Given the description of an element on the screen output the (x, y) to click on. 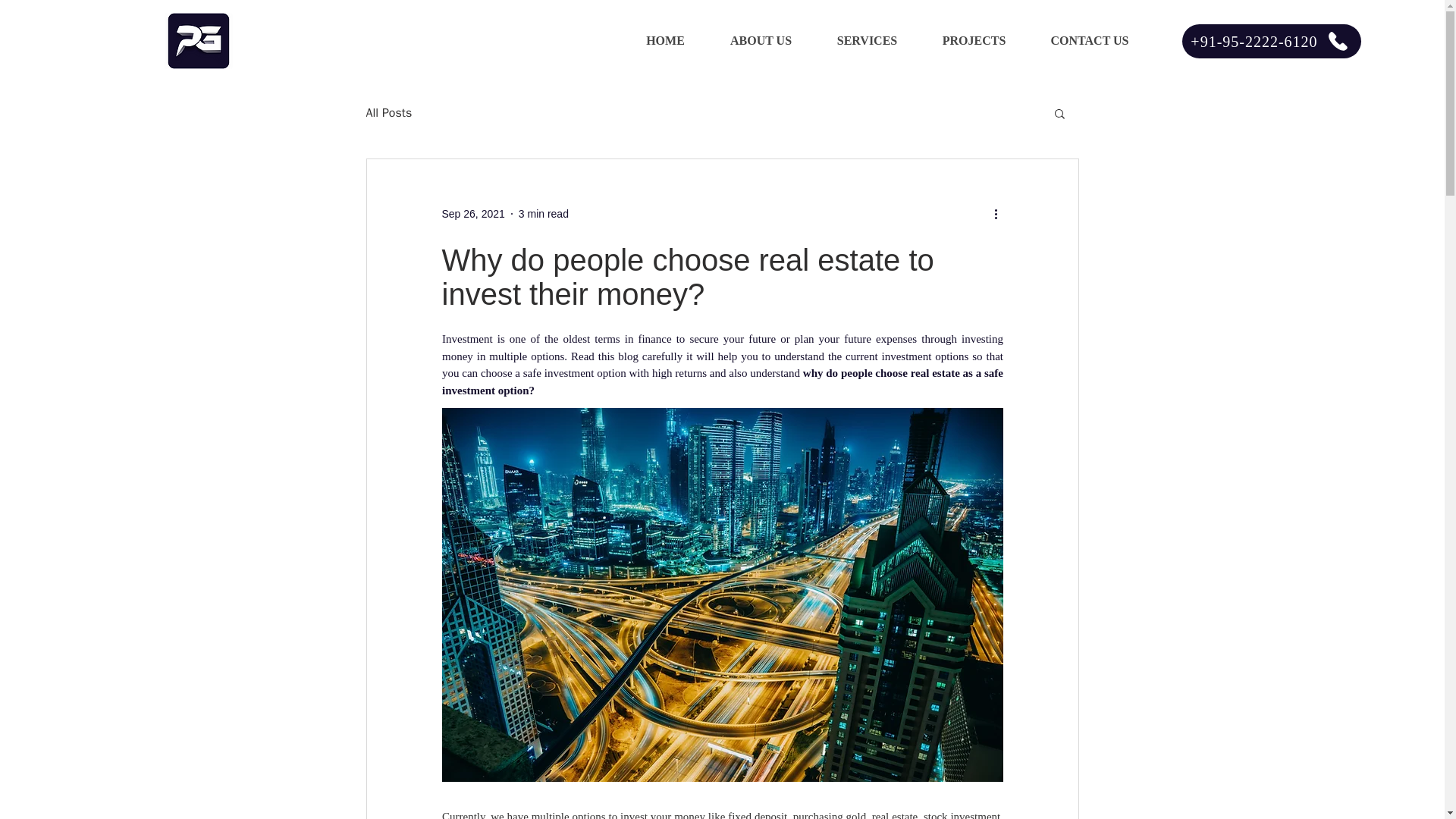
Sep 26, 2021 (472, 214)
CONTACT US (1089, 40)
3 min read (543, 214)
HOME (664, 40)
Pavitra Group.jpg (197, 40)
All Posts (388, 112)
